Given the description of an element on the screen output the (x, y) to click on. 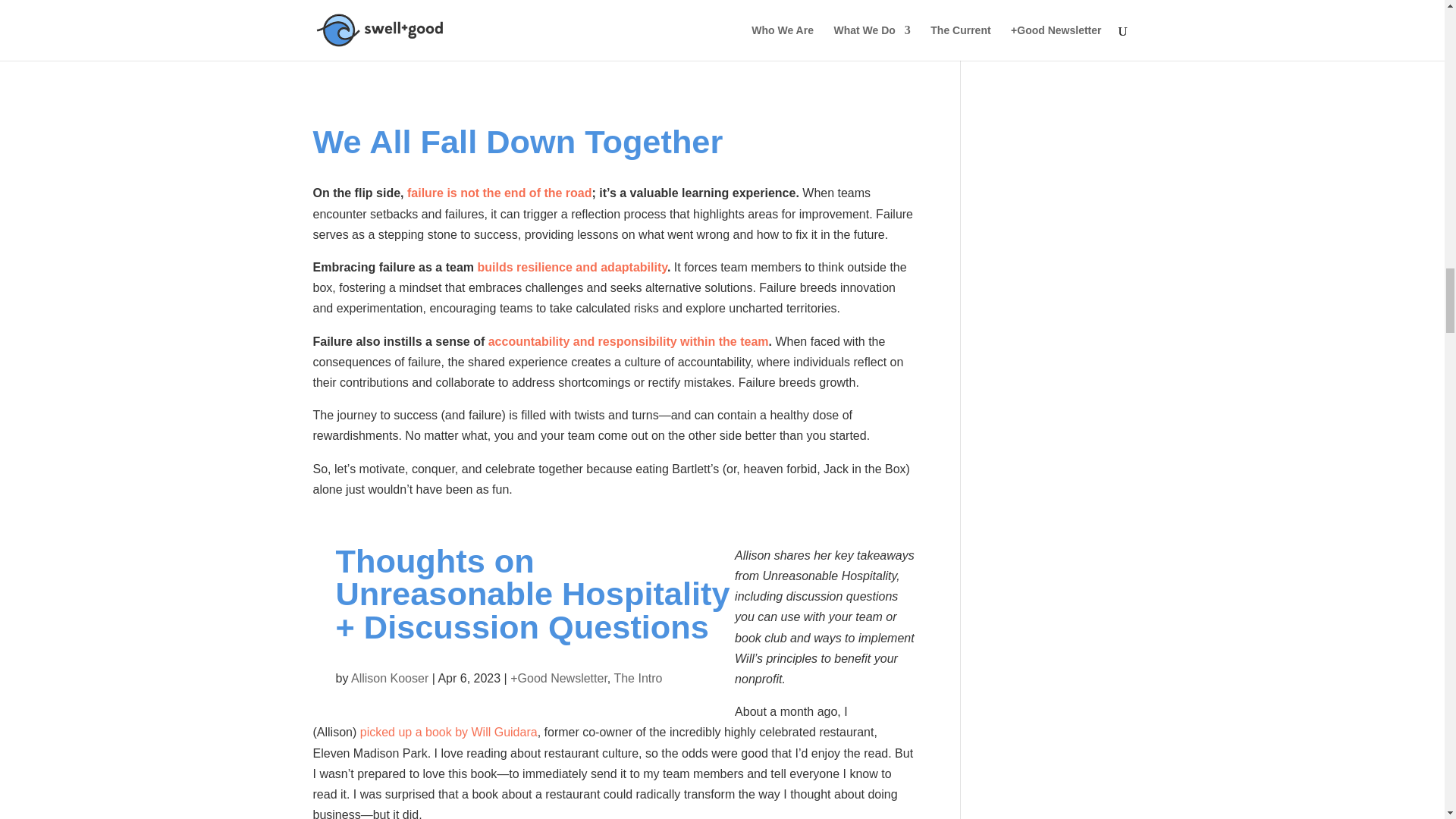
The Intro (637, 677)
builds resilience and adaptability (571, 267)
accountability and responsibility within the team (627, 341)
failure is not the end of the road (499, 192)
Allison Kooser (389, 677)
Posts by Allison Kooser (389, 677)
picked up a book by Will Guidara (448, 731)
